Given the description of an element on the screen output the (x, y) to click on. 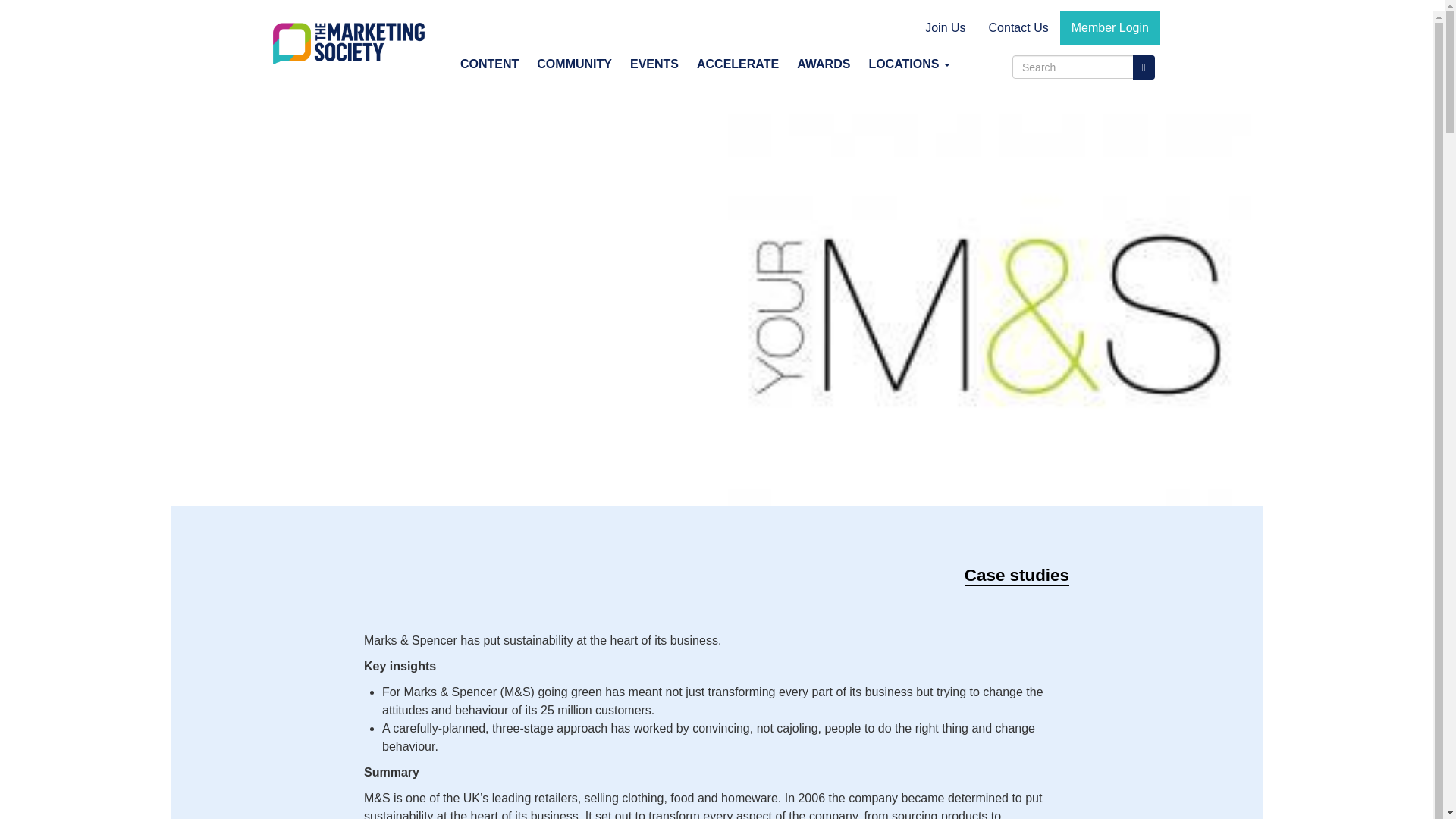
Member Login (1109, 28)
Contact Us (1017, 28)
LOCATIONS (908, 64)
EVENTS (654, 64)
Home (354, 43)
COMMUNITY (574, 64)
Join Us (945, 28)
ACCELERATE (737, 64)
CONTENT (489, 64)
AWARDS (823, 64)
Enter the terms you wish to search for. (1072, 66)
